Given the description of an element on the screen output the (x, y) to click on. 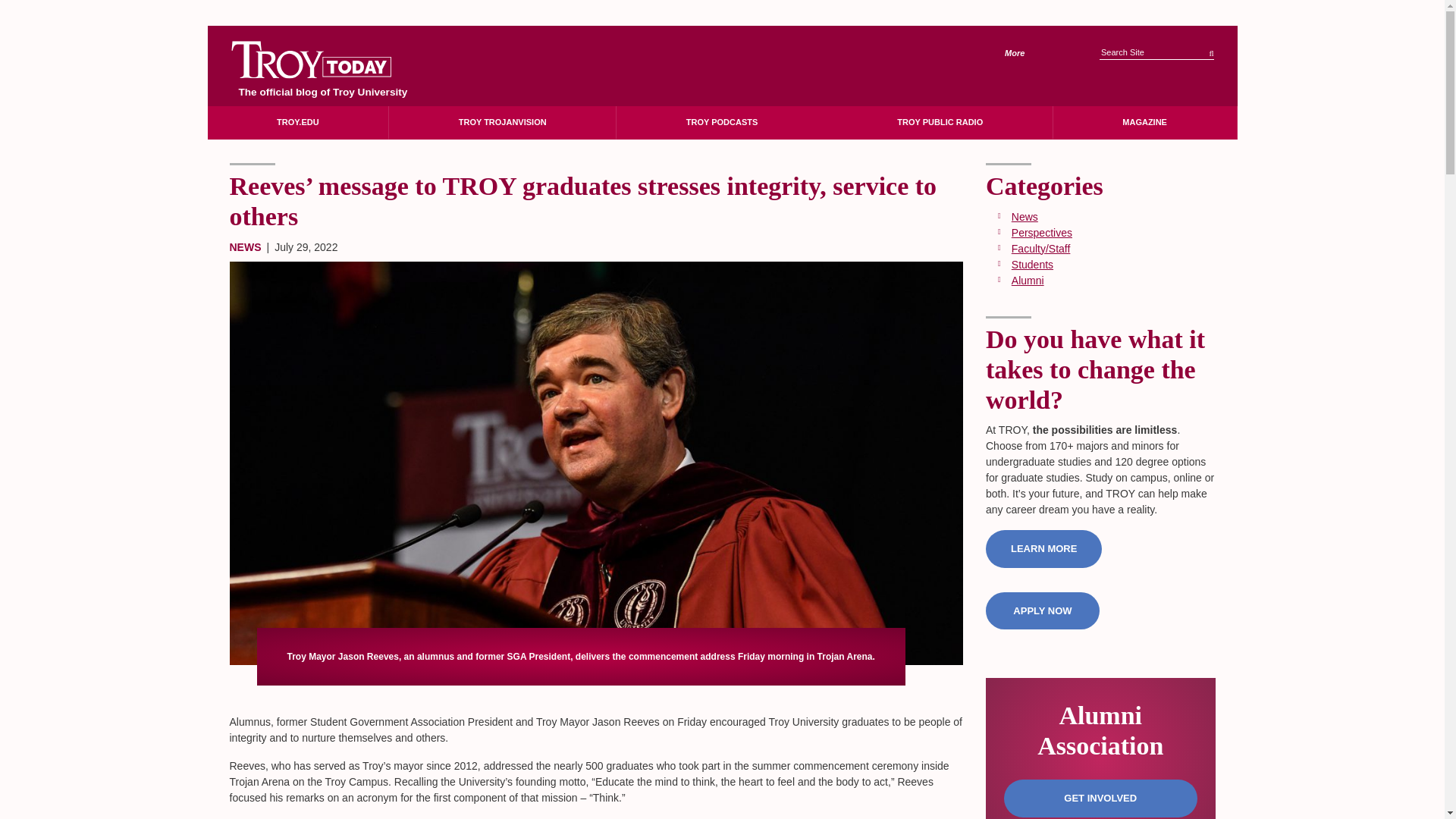
TROY TrojanVision (501, 122)
TROY Public Radio (940, 122)
NEWS (244, 246)
TROY Podcasts (721, 122)
TROY PODCASTS (721, 122)
TROY PUBLIC RADIO (940, 122)
TROY.EDU (298, 122)
More (1024, 53)
MAGAZINE (1144, 122)
Magazine (1144, 122)
